Given the description of an element on the screen output the (x, y) to click on. 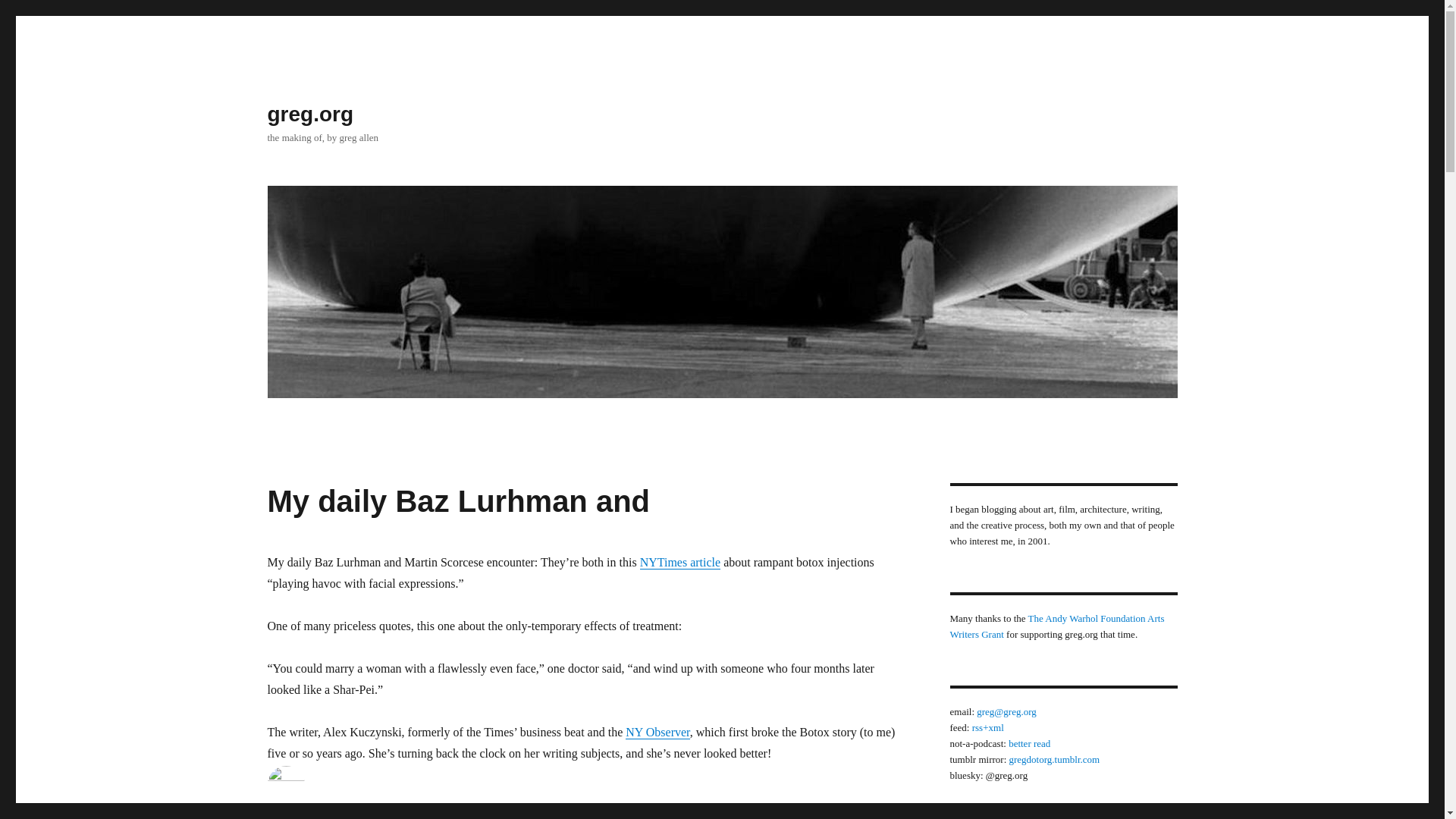
gregdotorg.tumblr.com (1054, 758)
NY Observer (658, 731)
greg.org (309, 114)
better read (1029, 743)
NYTimes article (680, 562)
The Andy Warhol Foundation Arts Writers Grant (1056, 625)
greg (276, 814)
